Given the description of an element on the screen output the (x, y) to click on. 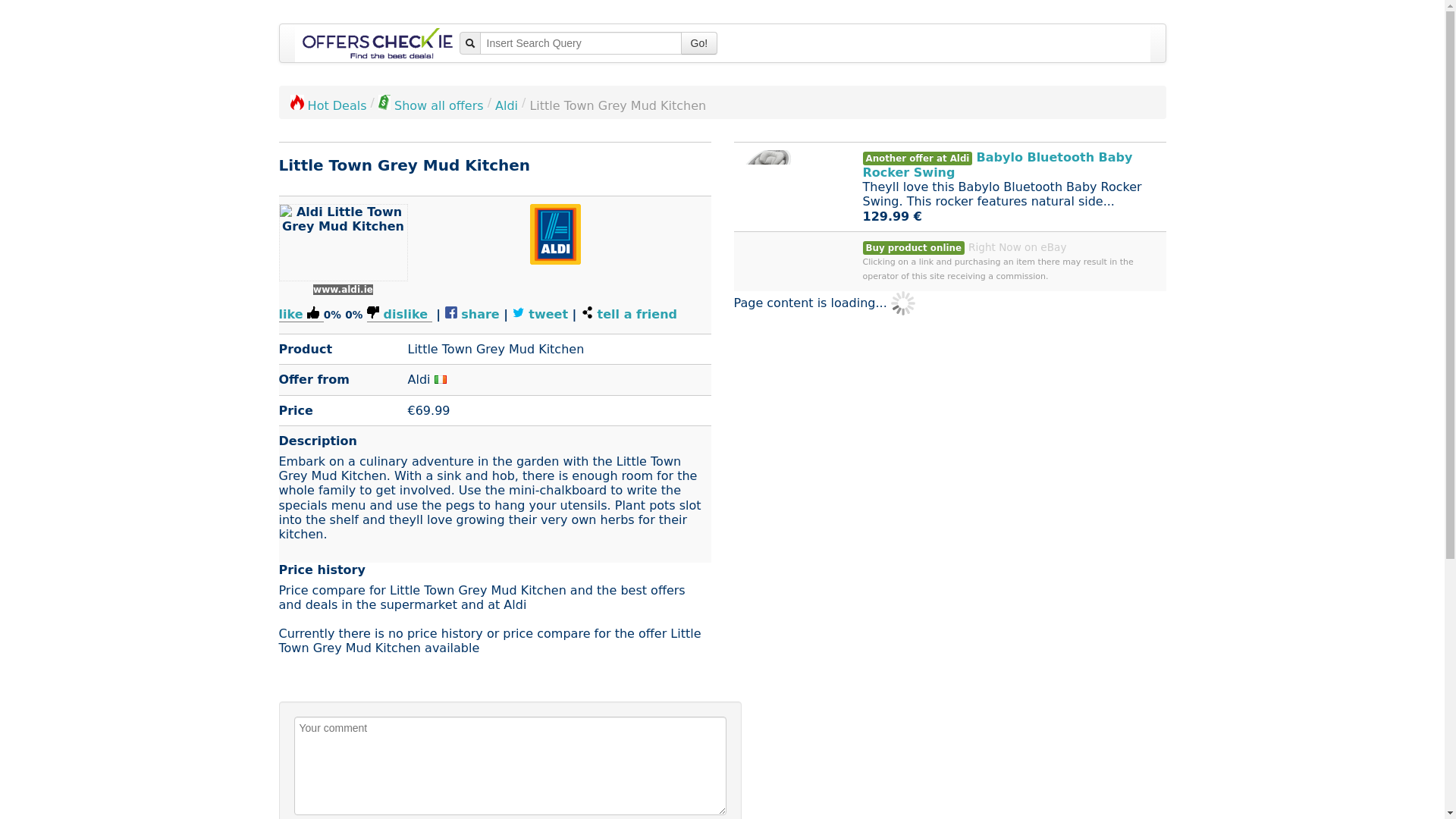
I like (301, 314)
tell a friend (586, 312)
Go! (699, 42)
Offer Aldi Little Town Grey Mud Kitchen (343, 242)
Current offers (430, 105)
Insert Market, Product, ... (580, 42)
Next offer Babylo Bluetooth Baby Rocker Swing Aldi (763, 179)
Ireland (439, 379)
